Given the description of an element on the screen output the (x, y) to click on. 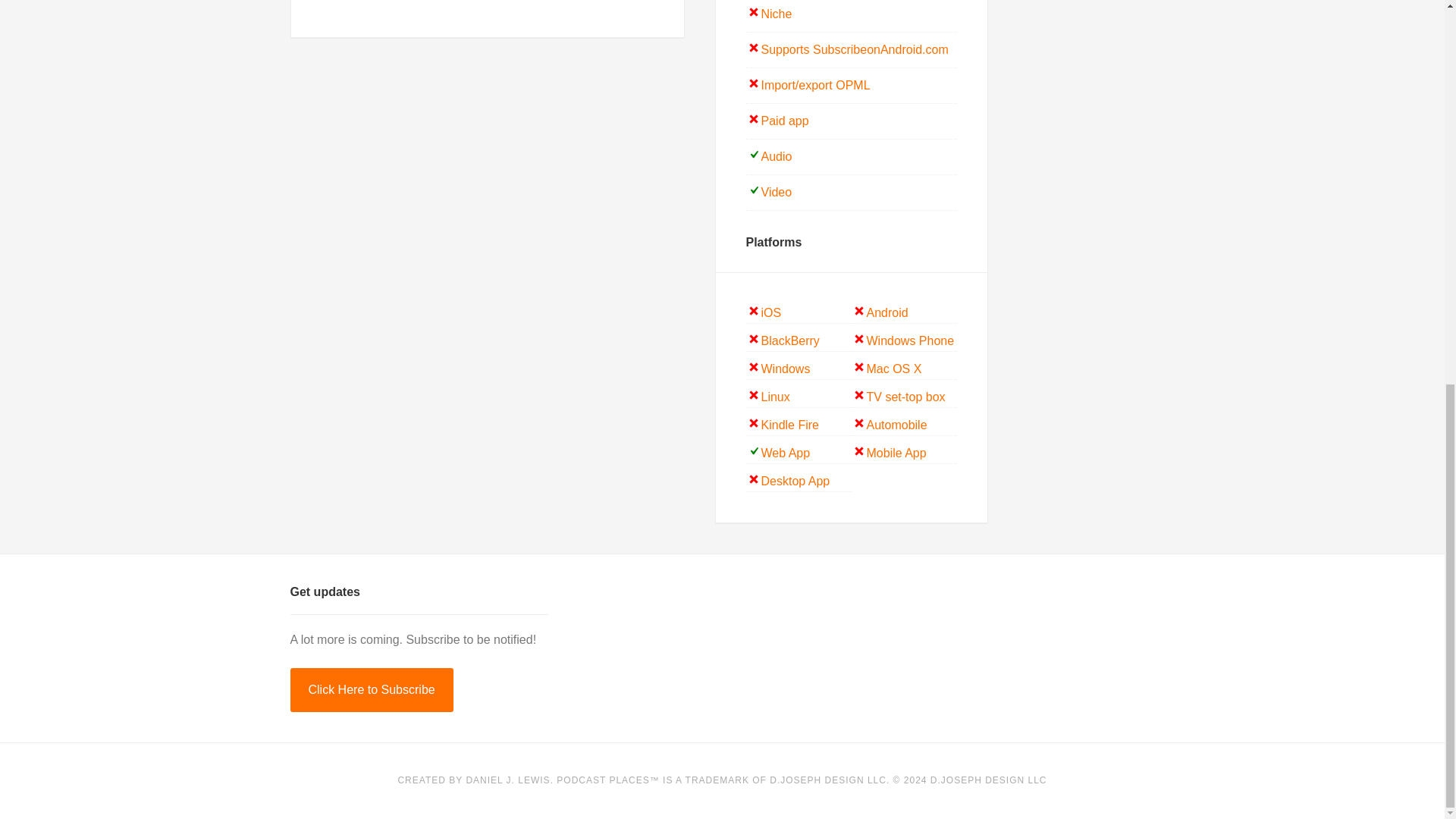
Web App (785, 452)
Automobile (896, 424)
DANIEL J. LEWIS (507, 779)
BlackBerry (790, 340)
TV set-top box (905, 396)
Paid app (785, 120)
Mac OS X (893, 368)
Windows Phone (909, 340)
Kindle Fire (789, 424)
Niche (776, 13)
Windows (785, 368)
Mobile App (896, 452)
iOS (771, 312)
Video (776, 192)
Click Here to Subscribe (370, 689)
